Given the description of an element on the screen output the (x, y) to click on. 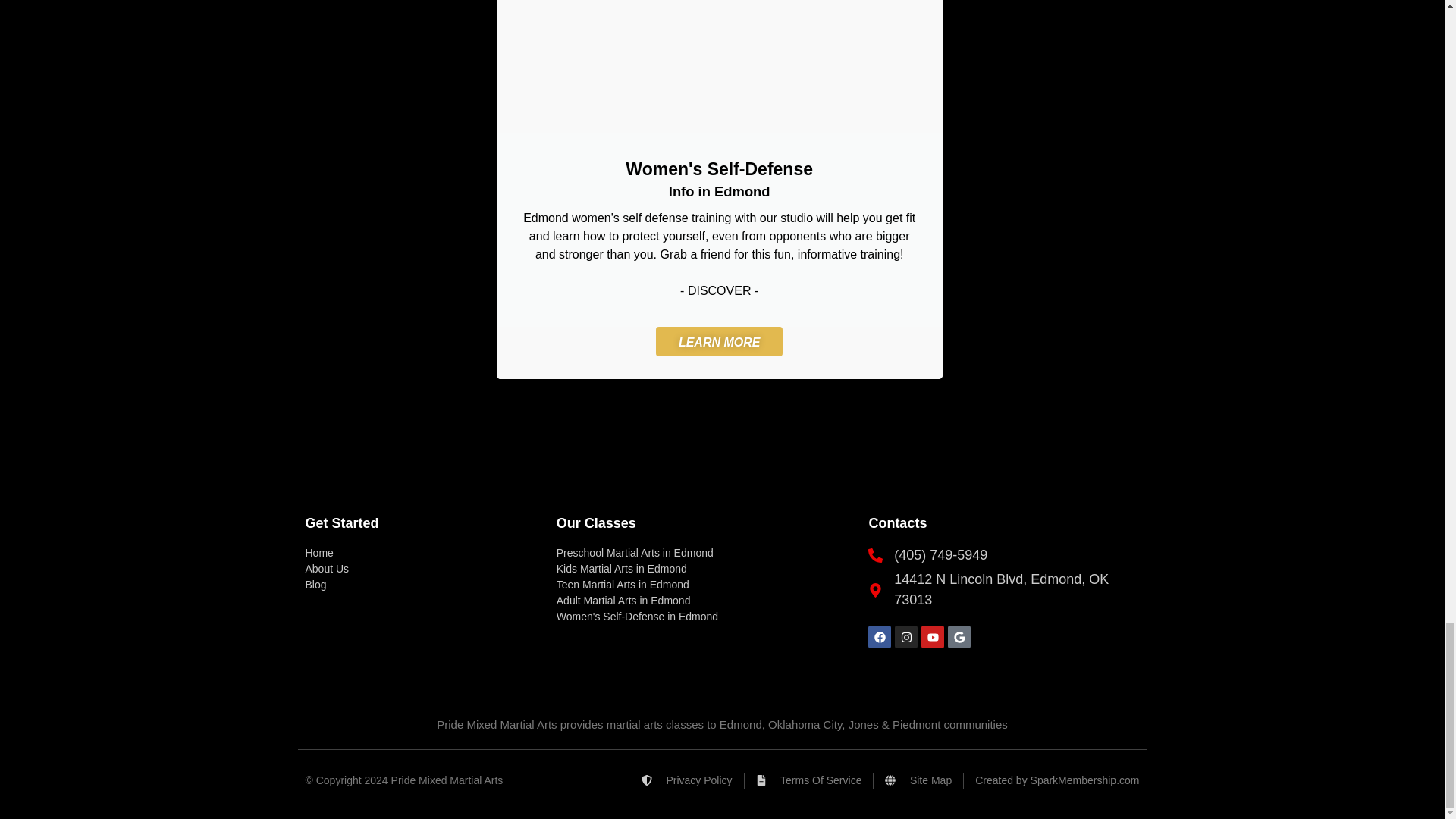
Location (1001, 589)
Home (422, 553)
LEARN MORE (719, 341)
Women's Self-Defense in Edmond (704, 616)
Yuotube (932, 636)
14412 N Lincoln Blvd, Edmond, OK 73013 (1001, 589)
Blog (422, 584)
Phone (1001, 555)
Teen Martial Arts in Edmond (704, 584)
Instagram (906, 636)
